Given the description of an element on the screen output the (x, y) to click on. 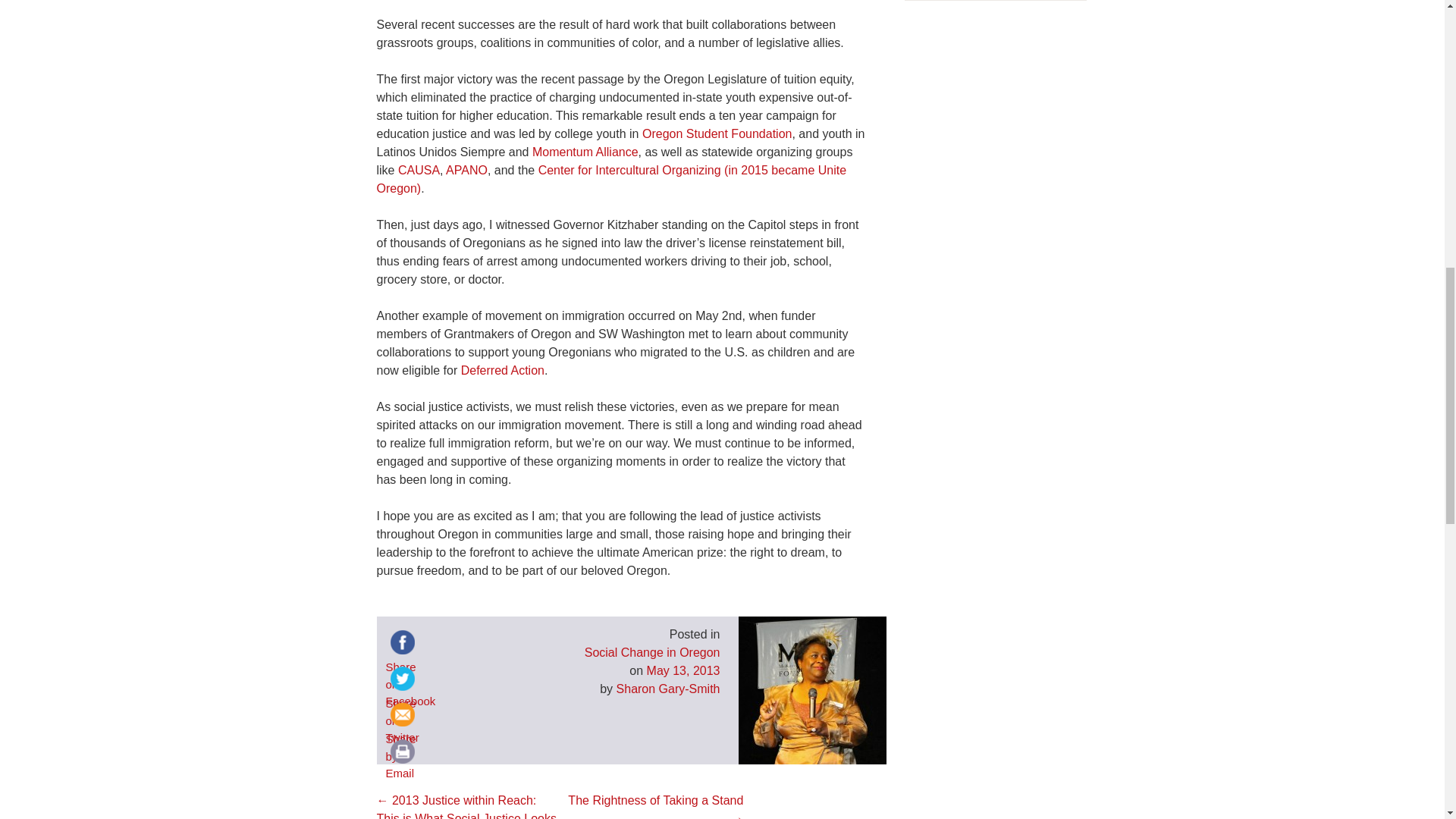
Social Change in Oregon (652, 652)
email (402, 714)
Momentum Alliance (585, 151)
print (402, 751)
Deferred Action (502, 369)
facebook (402, 642)
May 13, 2013 (683, 670)
twitter (402, 678)
Oregon Student Foundation (717, 133)
Sharon Gary-Smith (667, 688)
